Given the description of an element on the screen output the (x, y) to click on. 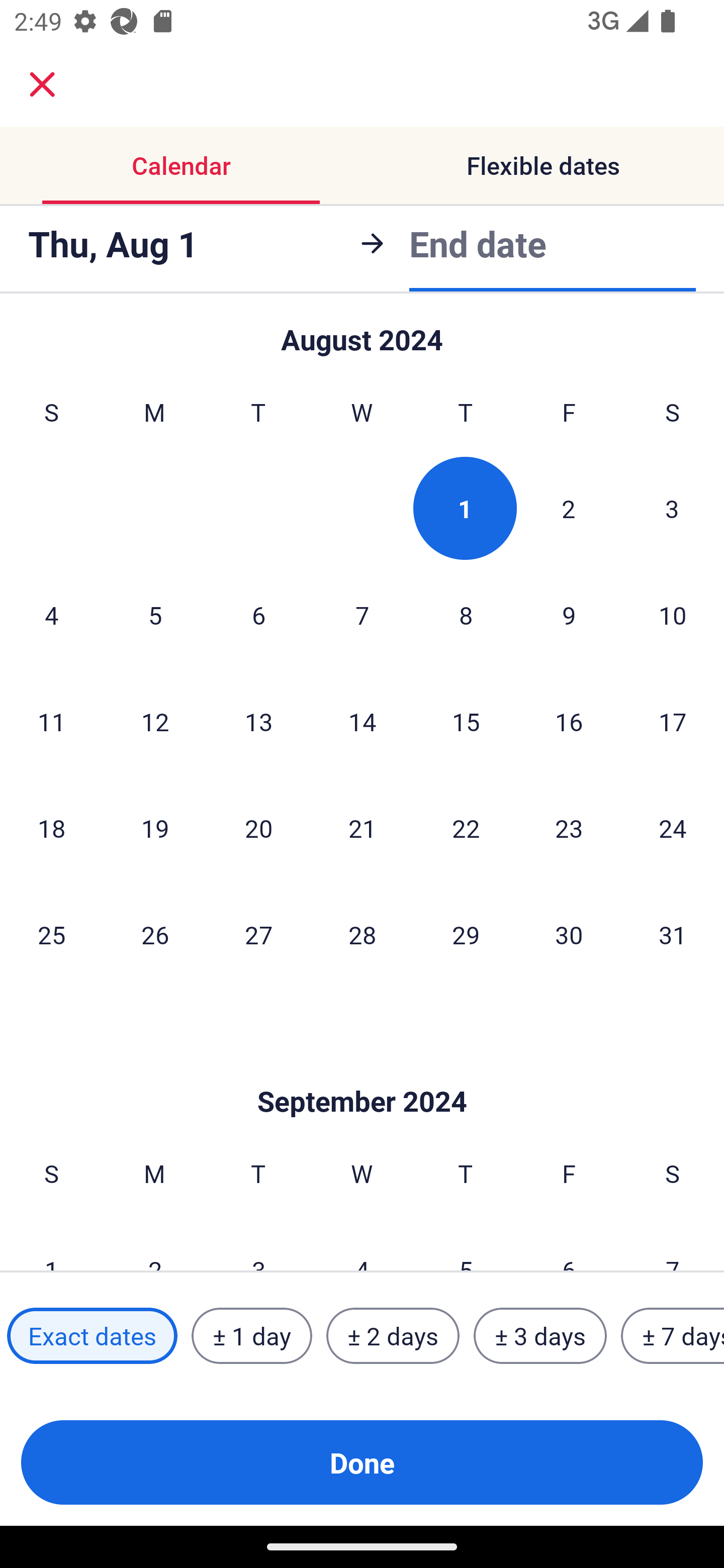
close. (42, 84)
Flexible dates (542, 164)
End date (477, 240)
2 Friday, August 2, 2024 (568, 507)
3 Saturday, August 3, 2024 (672, 507)
4 Sunday, August 4, 2024 (51, 614)
5 Monday, August 5, 2024 (155, 614)
6 Tuesday, August 6, 2024 (258, 614)
7 Wednesday, August 7, 2024 (362, 614)
8 Thursday, August 8, 2024 (465, 614)
9 Friday, August 9, 2024 (569, 614)
10 Saturday, August 10, 2024 (672, 614)
11 Sunday, August 11, 2024 (51, 721)
12 Monday, August 12, 2024 (155, 721)
13 Tuesday, August 13, 2024 (258, 721)
14 Wednesday, August 14, 2024 (362, 721)
15 Thursday, August 15, 2024 (465, 721)
16 Friday, August 16, 2024 (569, 721)
17 Saturday, August 17, 2024 (672, 721)
18 Sunday, August 18, 2024 (51, 827)
19 Monday, August 19, 2024 (155, 827)
20 Tuesday, August 20, 2024 (258, 827)
21 Wednesday, August 21, 2024 (362, 827)
22 Thursday, August 22, 2024 (465, 827)
23 Friday, August 23, 2024 (569, 827)
24 Saturday, August 24, 2024 (672, 827)
25 Sunday, August 25, 2024 (51, 934)
26 Monday, August 26, 2024 (155, 934)
27 Tuesday, August 27, 2024 (258, 934)
28 Wednesday, August 28, 2024 (362, 934)
29 Thursday, August 29, 2024 (465, 934)
30 Friday, August 30, 2024 (569, 934)
31 Saturday, August 31, 2024 (672, 934)
Skip to Done (362, 1070)
Exact dates (92, 1335)
± 1 day (251, 1335)
± 2 days (392, 1335)
± 3 days (539, 1335)
± 7 days (672, 1335)
Done (361, 1462)
